Given the description of an element on the screen output the (x, y) to click on. 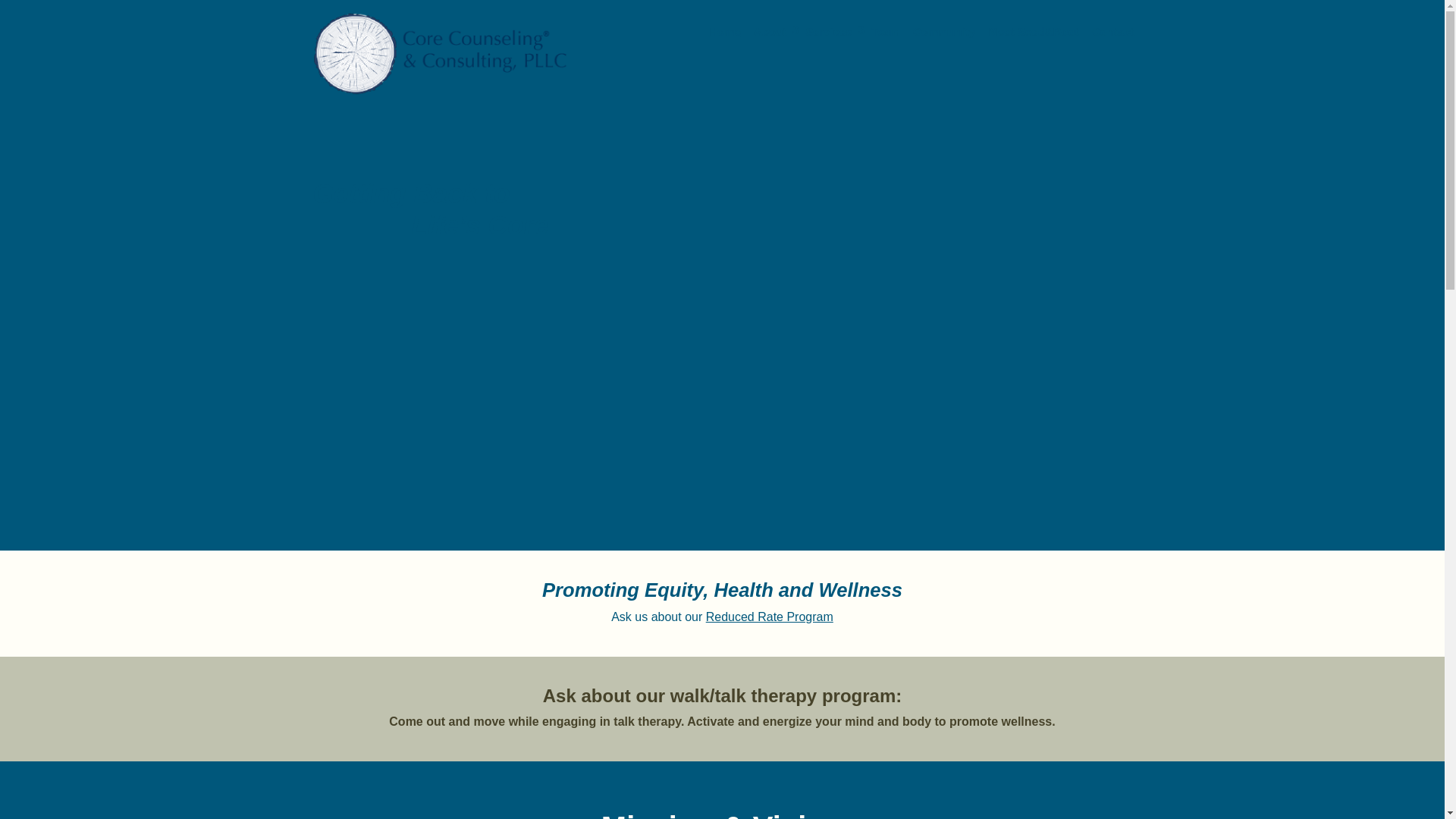
Services (831, 31)
Reduced Rate Program (769, 616)
Home (725, 31)
Contact (1113, 31)
About (773, 31)
ccc-logo-reg (441, 53)
Team (885, 31)
Community (944, 31)
